Given the description of an element on the screen output the (x, y) to click on. 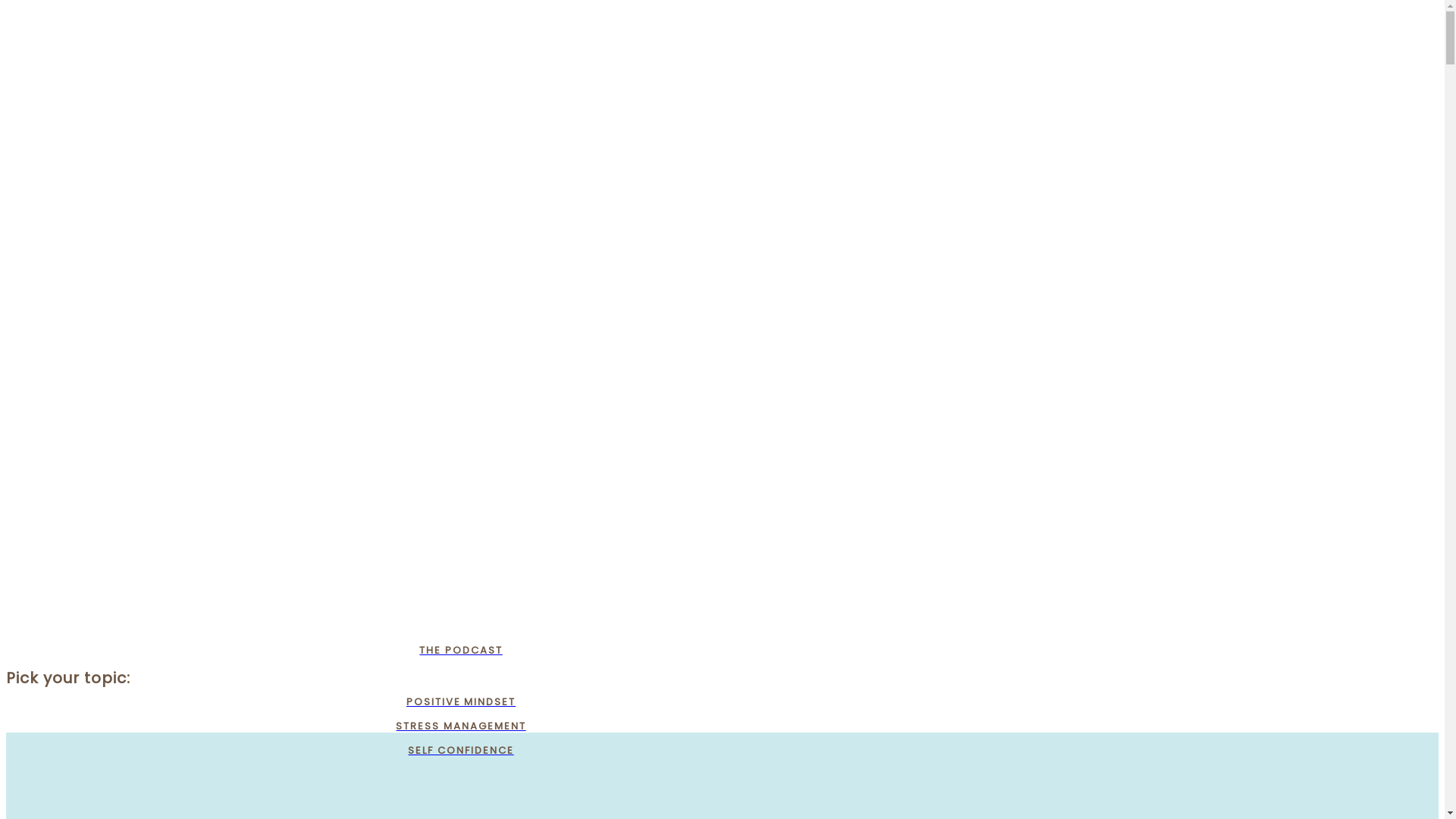
THE PODCAST Element type: text (461, 649)
POSITIVE MINDSET Element type: text (461, 701)
STRESS MANAGEMENT Element type: text (461, 725)
SELF CONFIDENCE Element type: text (461, 750)
